Given the description of an element on the screen output the (x, y) to click on. 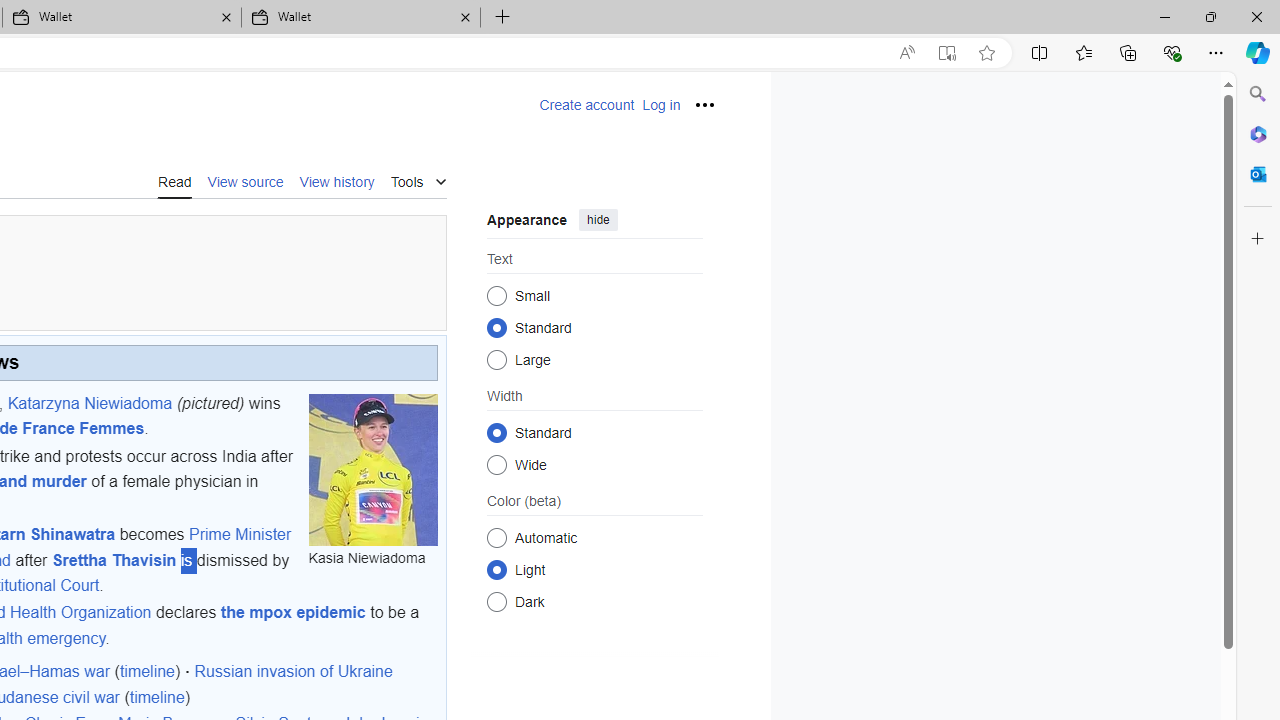
View source (245, 181)
Dark (496, 601)
Light (496, 569)
(timeline) (157, 698)
Log in (661, 105)
Tools (418, 179)
hide (598, 219)
timeline (157, 698)
Wallet (360, 17)
Log in (661, 105)
